Given the description of an element on the screen output the (x, y) to click on. 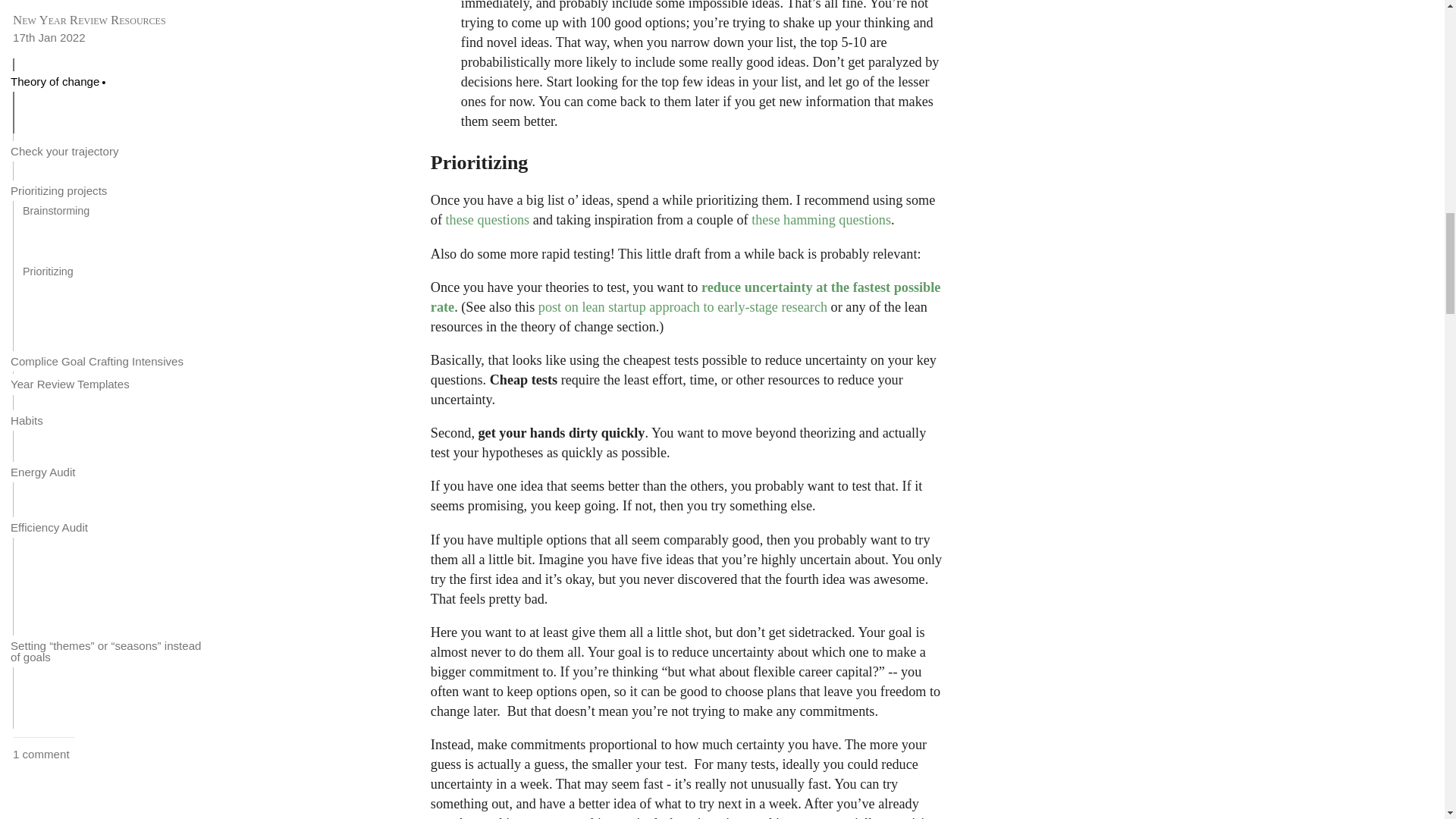
post on lean startup approach to early-stage research (682, 306)
these questions (487, 219)
these hamming questions (821, 219)
reduce uncertainty at the fastest possible rate (685, 297)
